Given the description of an element on the screen output the (x, y) to click on. 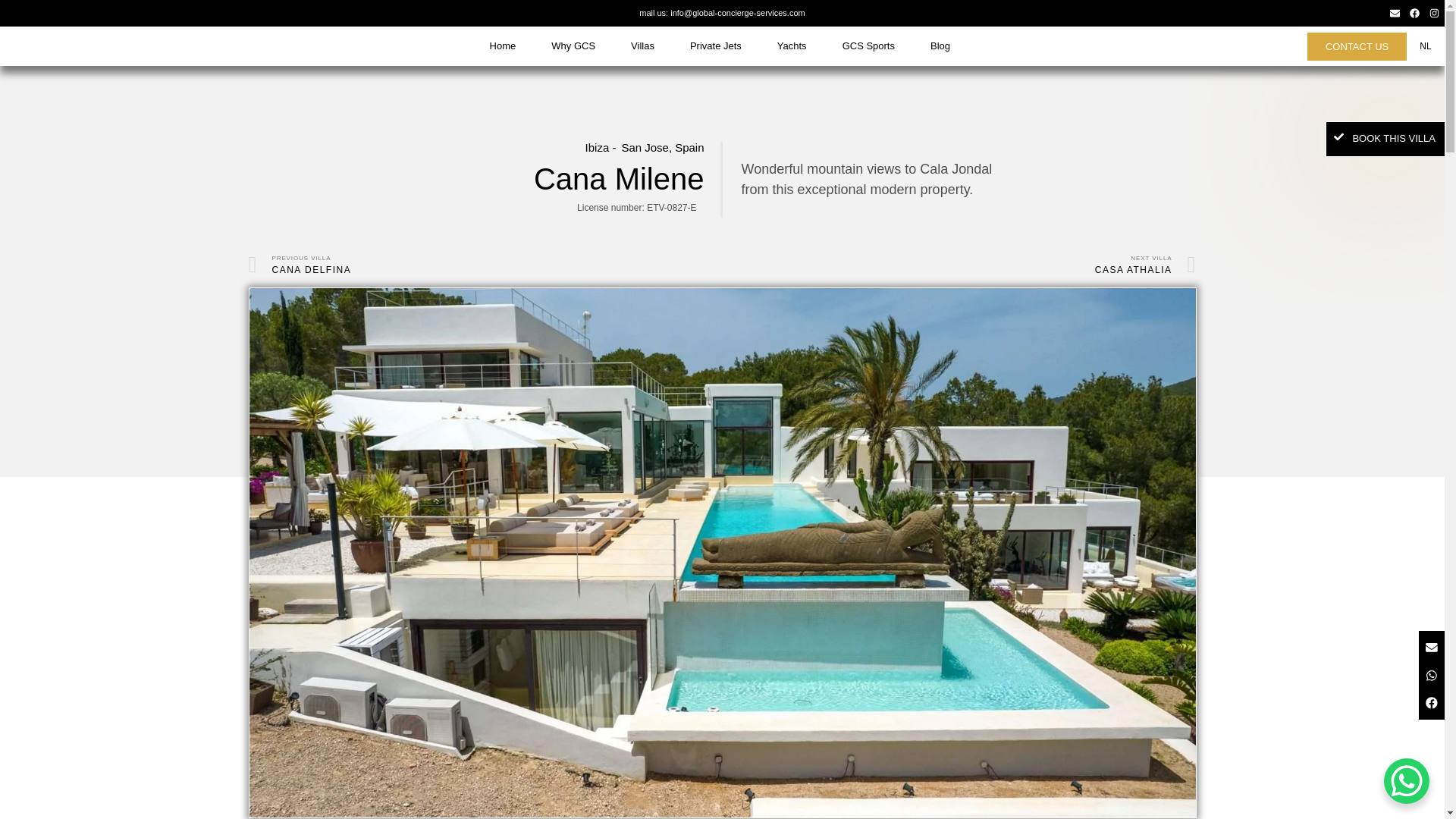
Private Jets (716, 46)
Why GCS (572, 46)
CONTACT US (1356, 45)
Villas (642, 46)
Home (502, 46)
Blog (940, 46)
Yachts (791, 46)
GCS Sports (868, 46)
NL (1421, 46)
